Given the description of an element on the screen output the (x, y) to click on. 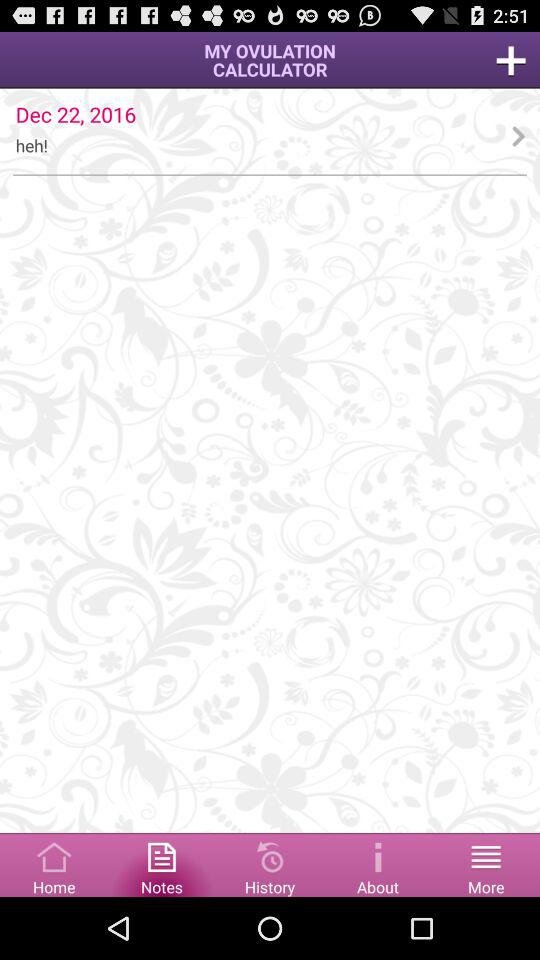
see notes (162, 864)
